Given the description of an element on the screen output the (x, y) to click on. 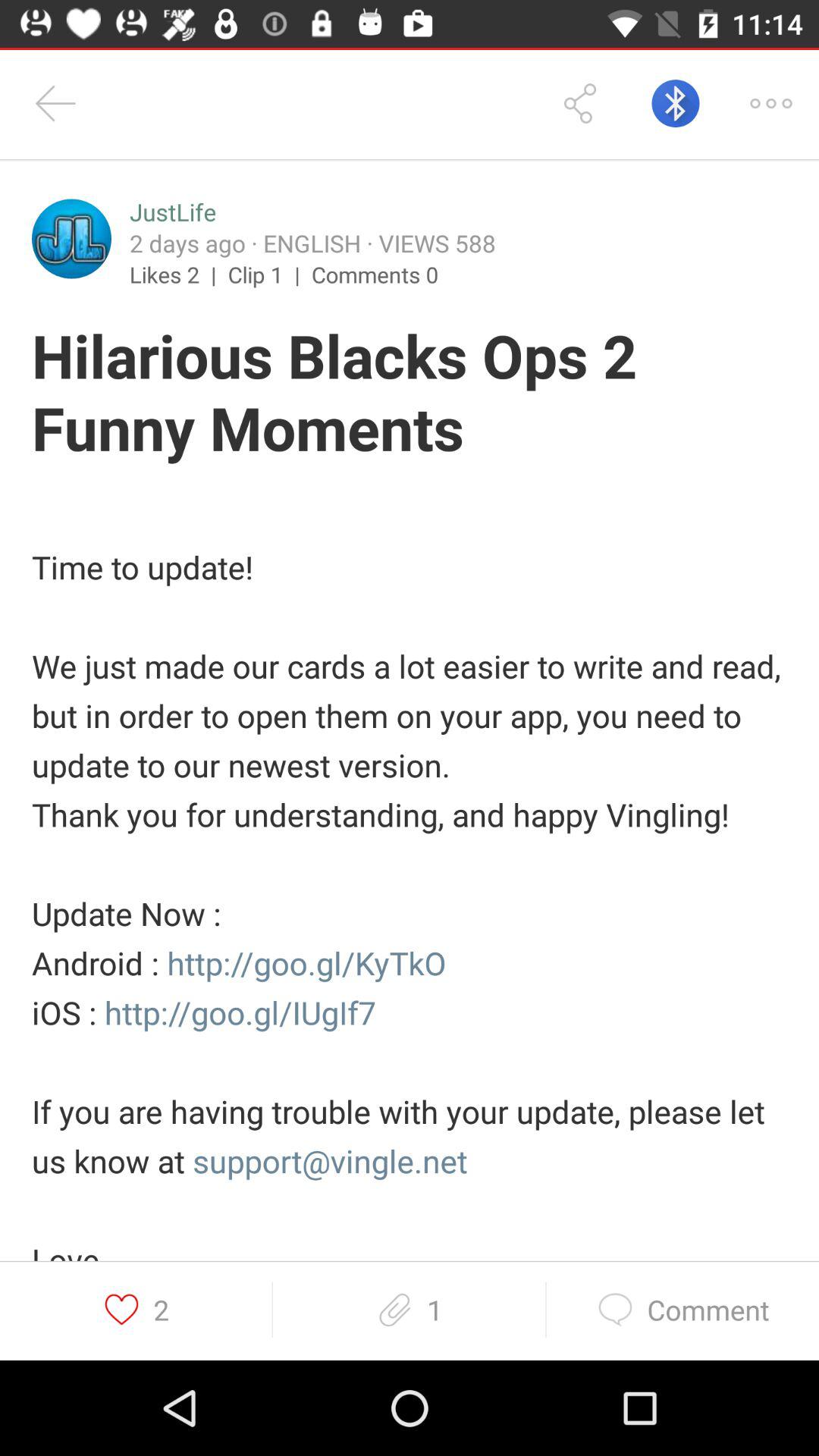
press icon to the left of justlife icon (71, 238)
